Given the description of an element on the screen output the (x, y) to click on. 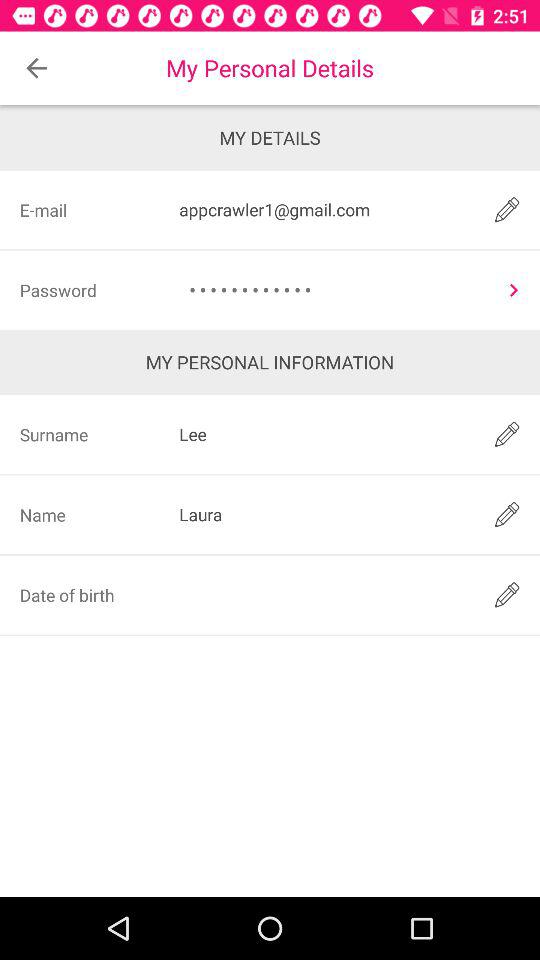
write/enter date of birth (323, 594)
